Given the description of an element on the screen output the (x, y) to click on. 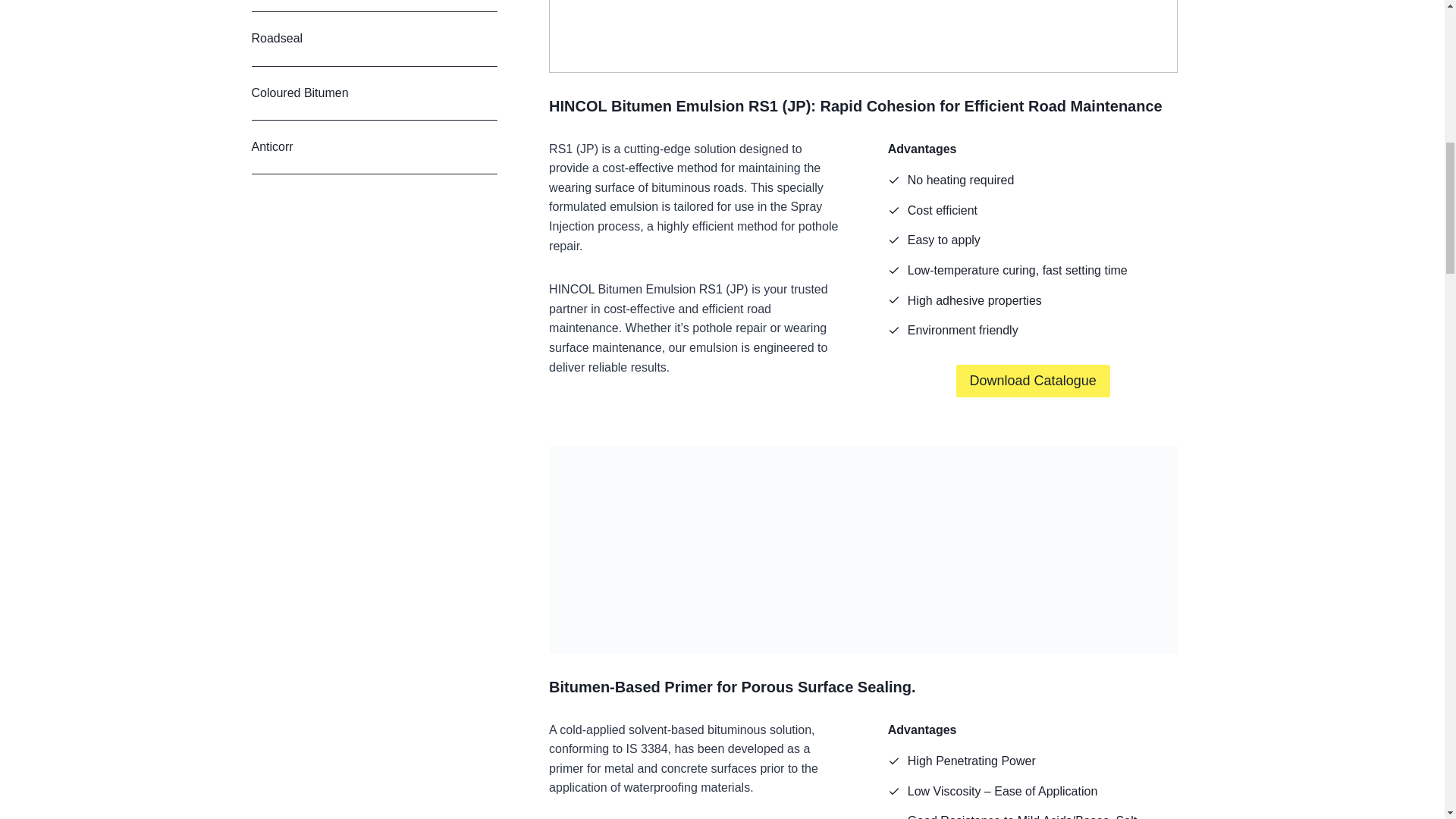
Coloured Bitumen (374, 93)
Bondcoat (374, 6)
Anticorr (374, 147)
Roadseal (374, 39)
Download Catalogue (1032, 380)
